Given the description of an element on the screen output the (x, y) to click on. 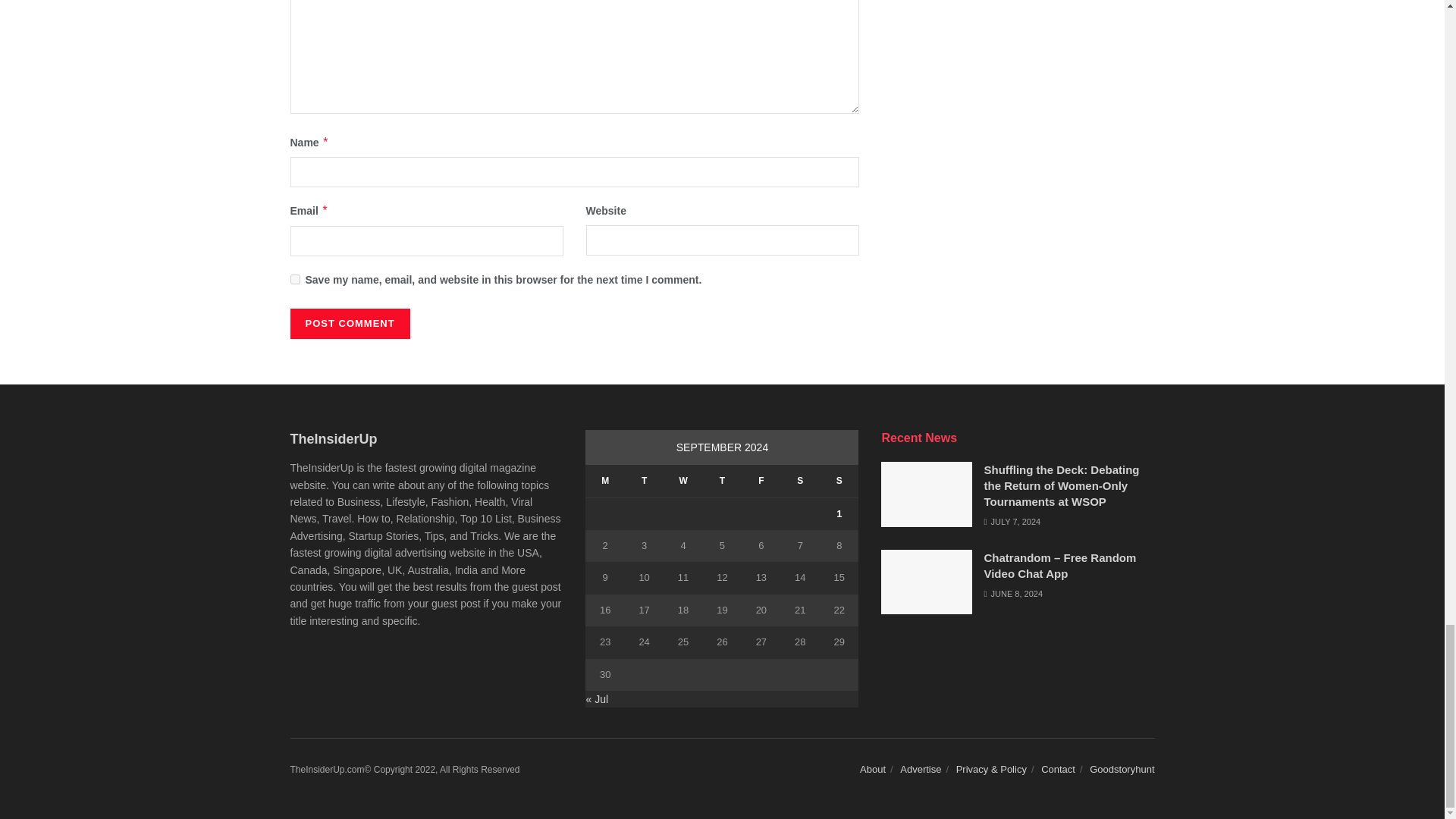
Saturday (799, 481)
Wednesday (682, 481)
yes (294, 279)
Friday (760, 481)
Thursday (722, 481)
Post Comment (349, 323)
Monday (604, 481)
Sunday (839, 481)
Tuesday (643, 481)
